Given the description of an element on the screen output the (x, y) to click on. 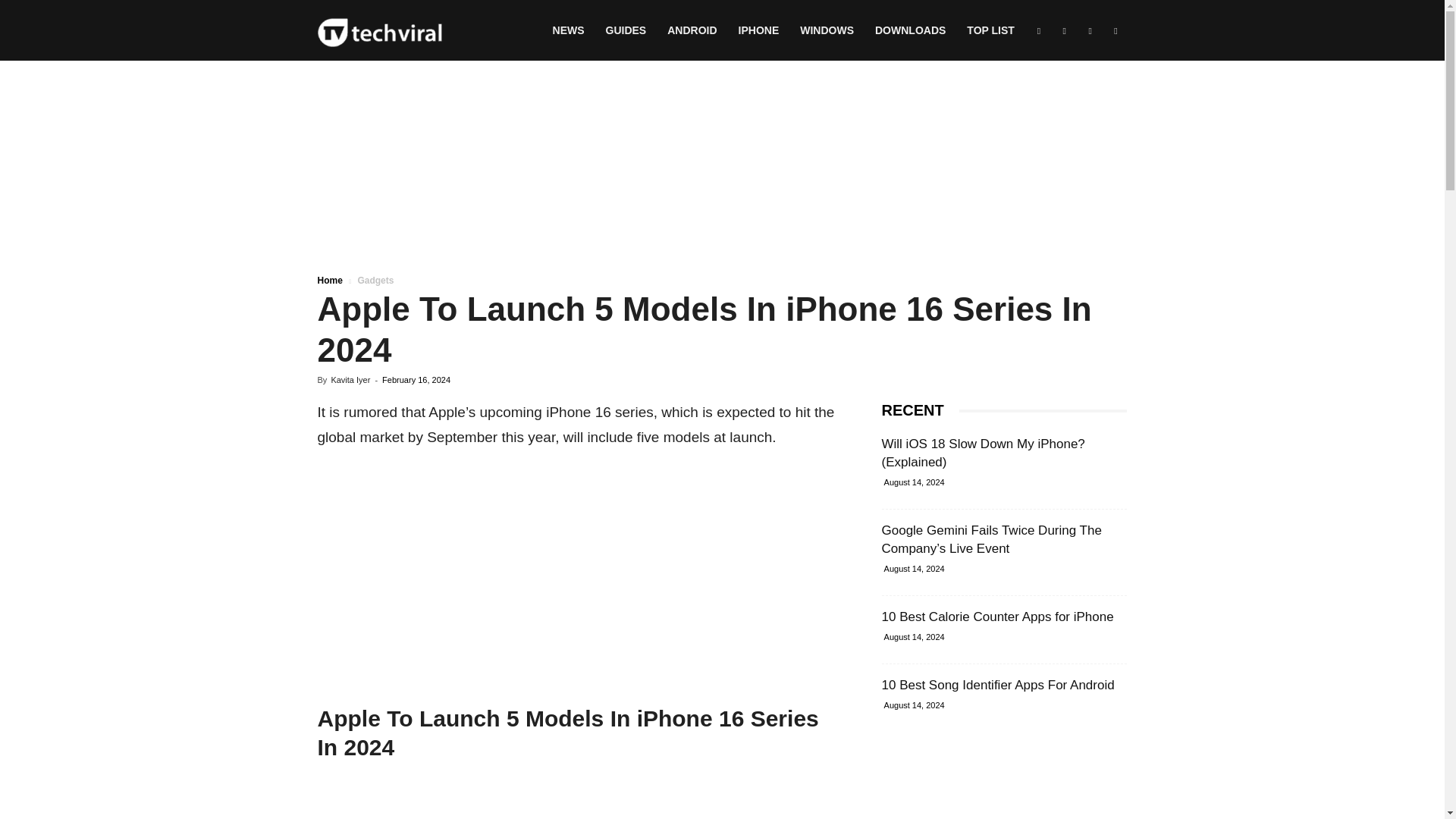
WINDOWS (826, 30)
Tech Viral (379, 30)
ANDROID (691, 30)
IPHONE (759, 30)
DOWNLOADS (910, 30)
Home (329, 280)
GUIDES (626, 30)
TechViral (379, 30)
TOP LIST (990, 30)
Kavita Iyer (349, 379)
